Given the description of an element on the screen output the (x, y) to click on. 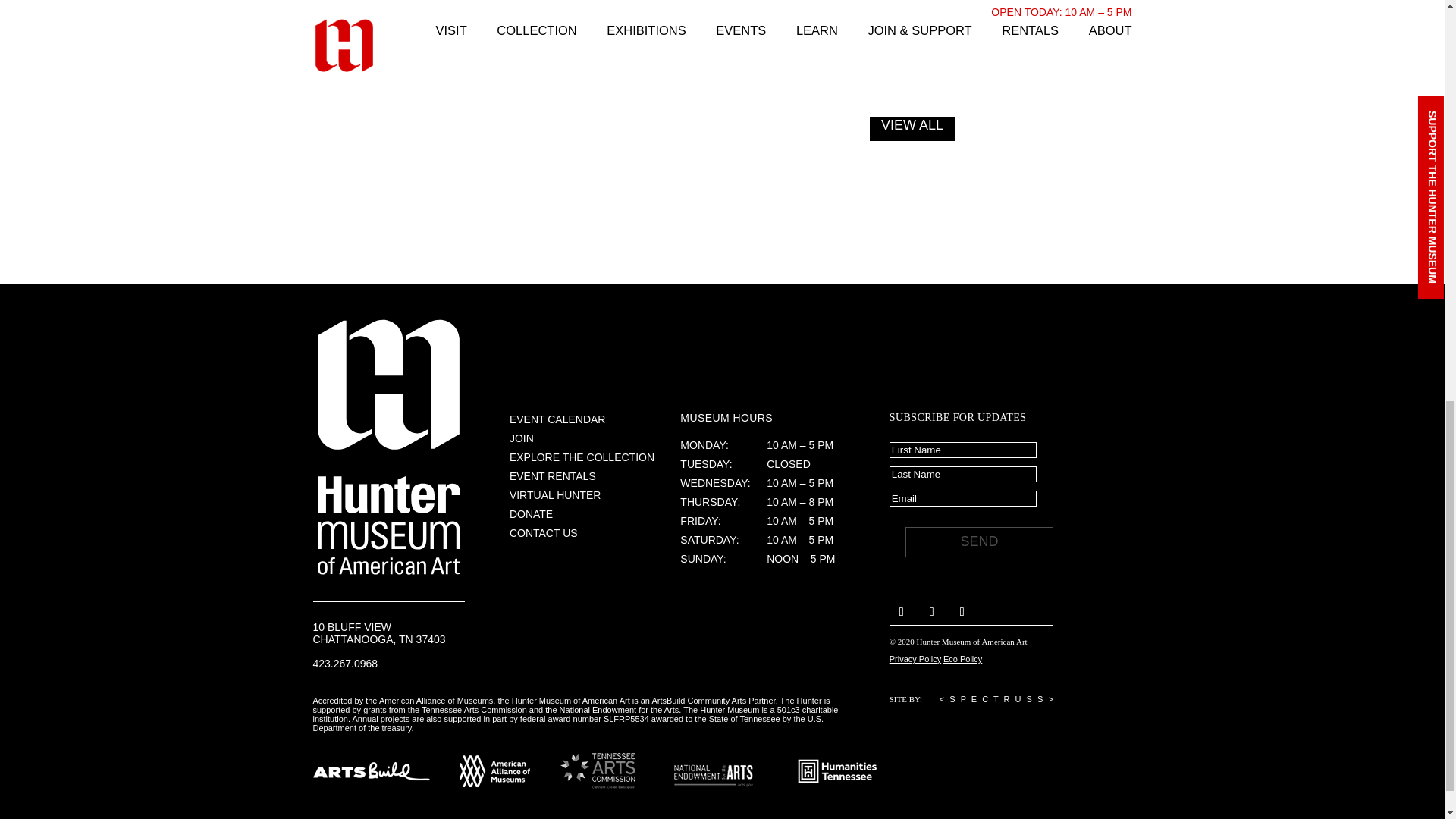
Instagram (931, 611)
Youtube (962, 611)
Facebook (901, 611)
SEND (978, 542)
